Given the description of an element on the screen output the (x, y) to click on. 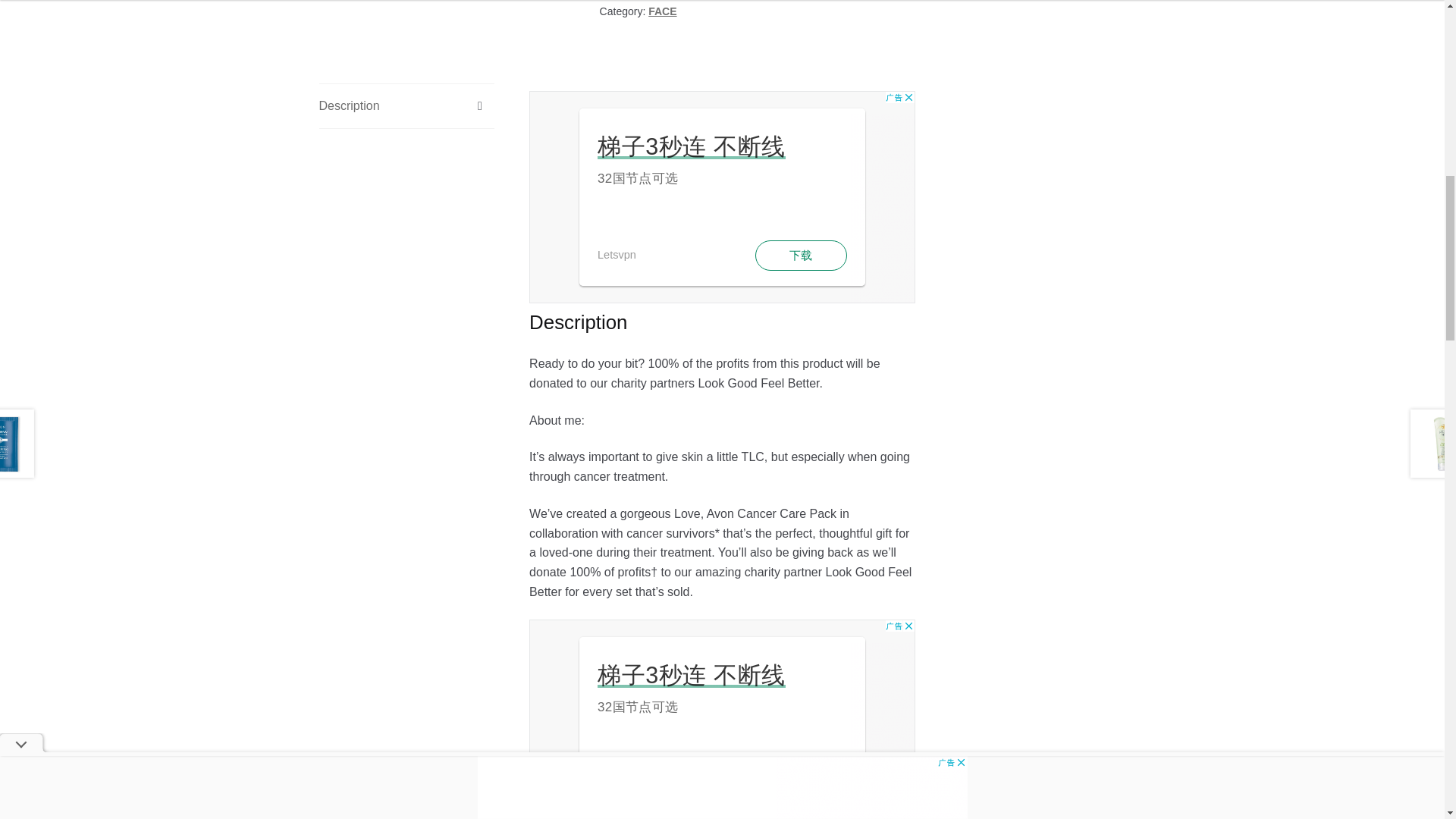
FACE (662, 10)
Advertisement (722, 196)
Advertisement (722, 719)
Description (406, 105)
